Given the description of an element on the screen output the (x, y) to click on. 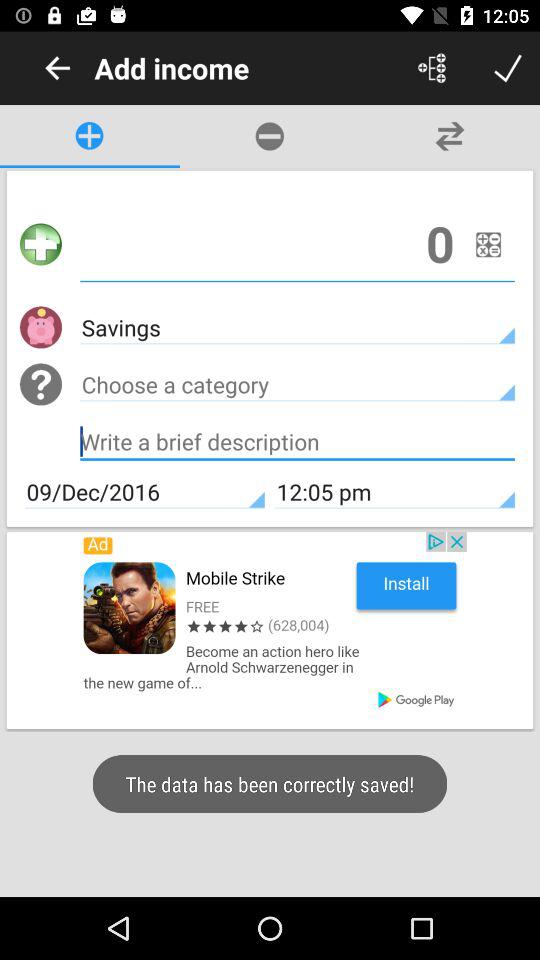
click in the box to install mobile strike (269, 630)
